Given the description of an element on the screen output the (x, y) to click on. 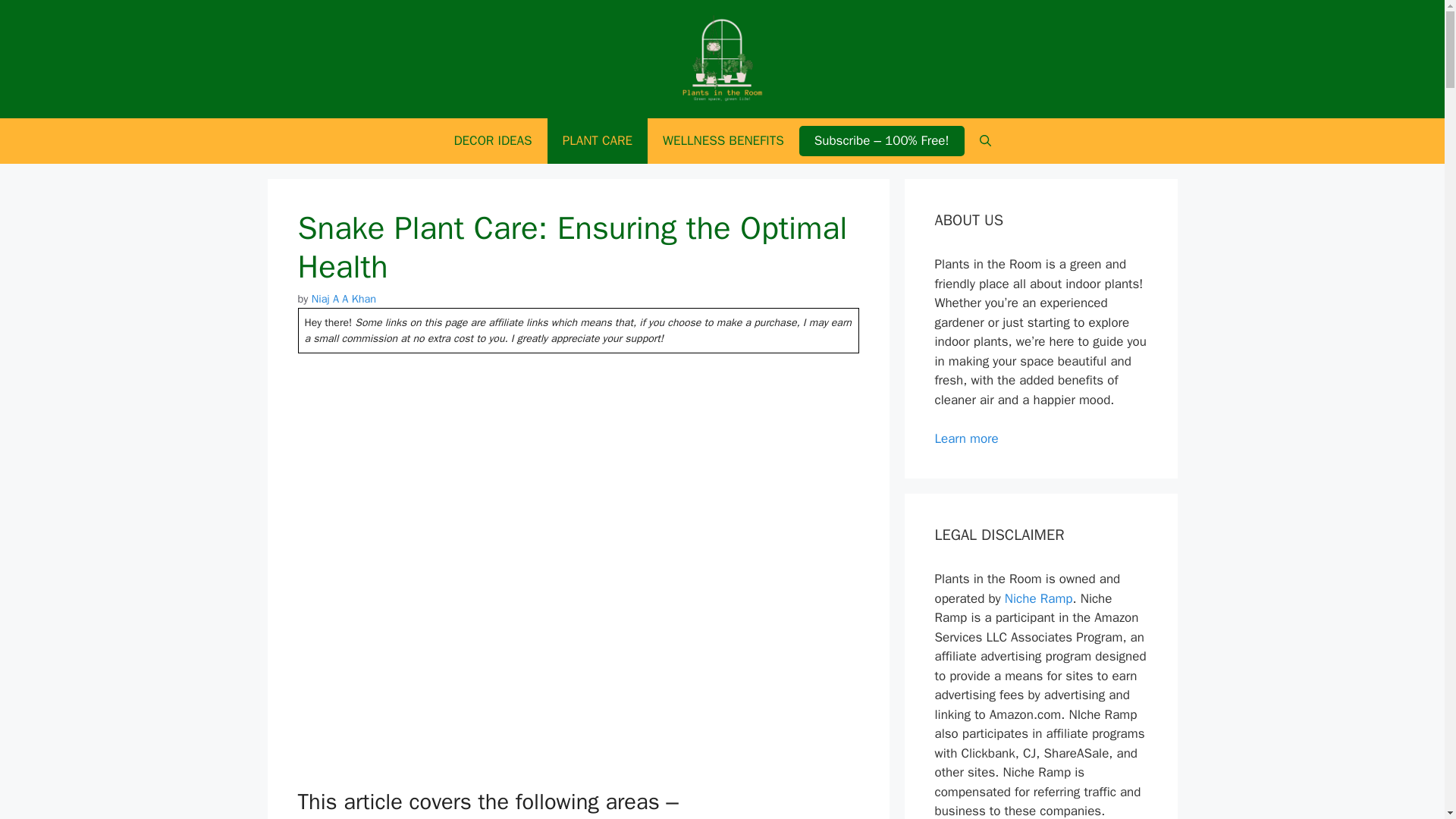
Learn more (965, 438)
Niche Ramp (1038, 598)
Niaj A A Khan (343, 298)
WELLNESS BENEFITS (723, 140)
DECOR IDEAS (492, 140)
View all posts by Niaj A A Khan (343, 298)
PLANT CARE (597, 140)
